Given the description of an element on the screen output the (x, y) to click on. 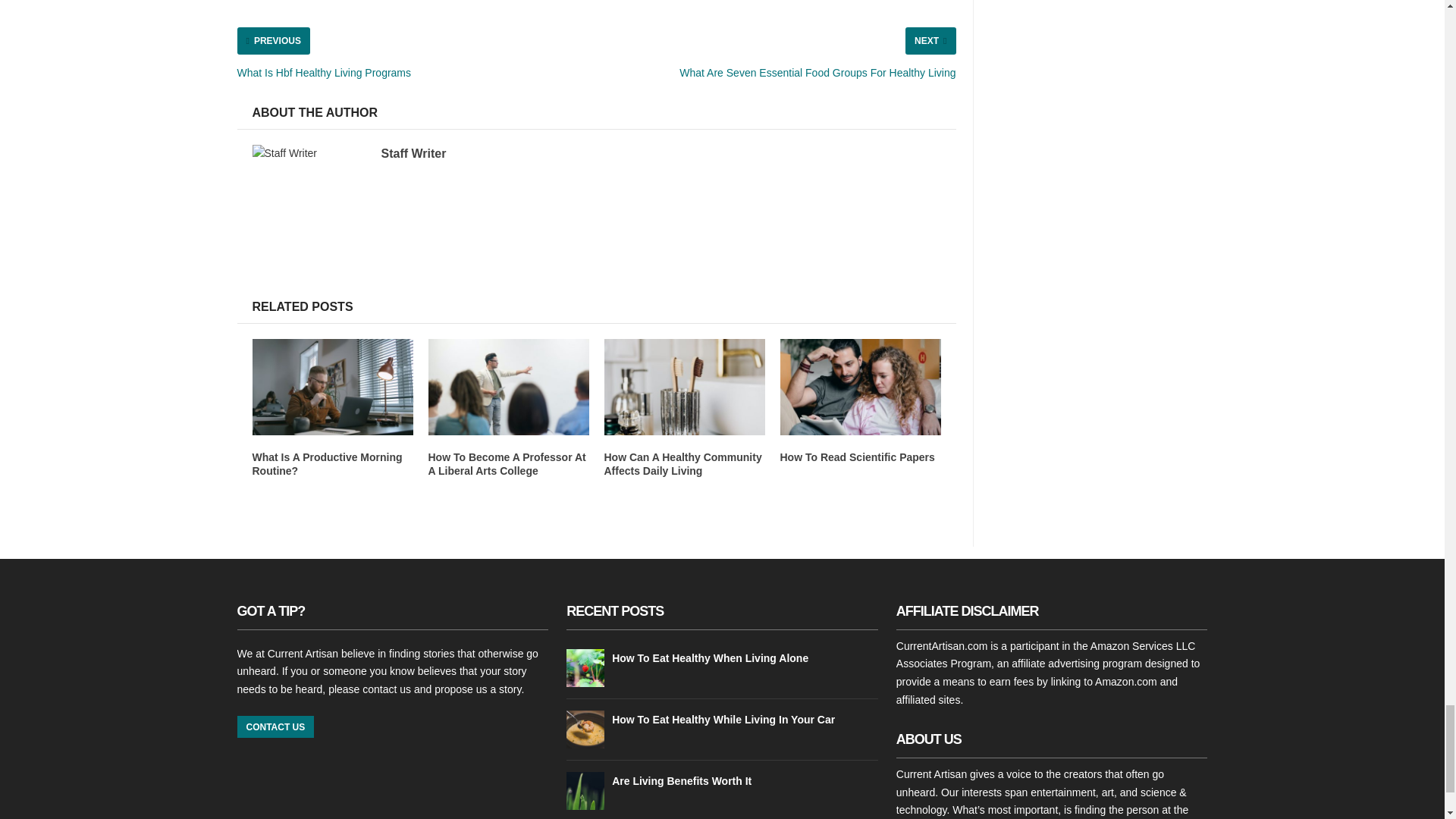
How To Read Scientific Papers (856, 457)
How Can A Healthy Community Affects Daily Living (682, 463)
Staff Writer (412, 153)
How To Become A Professor At A Liberal Arts College (506, 463)
What Is A Productive Morning Routine? (326, 463)
